Given the description of an element on the screen output the (x, y) to click on. 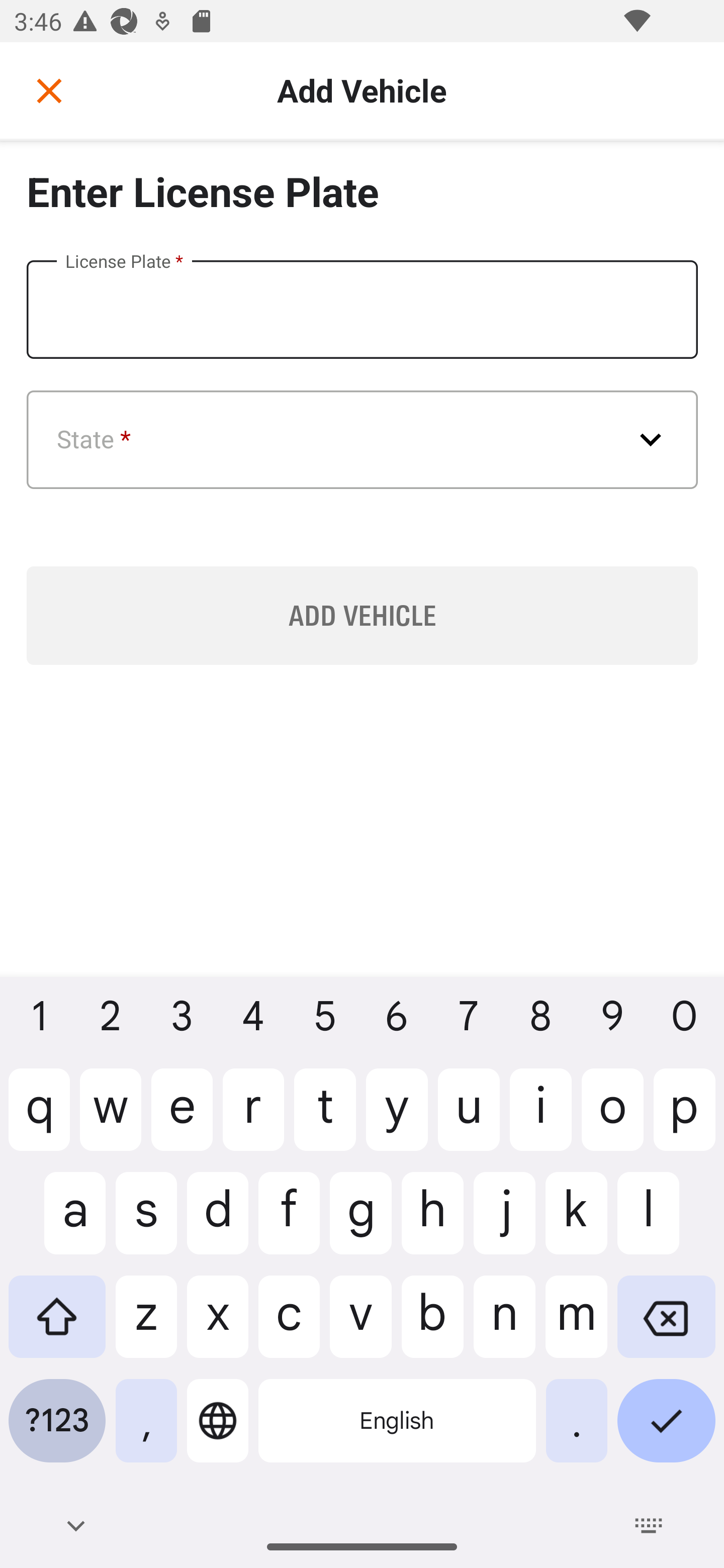
Go back  (49, 89)
License Plate * License Plate required (361, 309)
state selector, collapsed State *  (362, 439)
Add Vehicle ADD VEHICLE (361, 615)
